Given the description of an element on the screen output the (x, y) to click on. 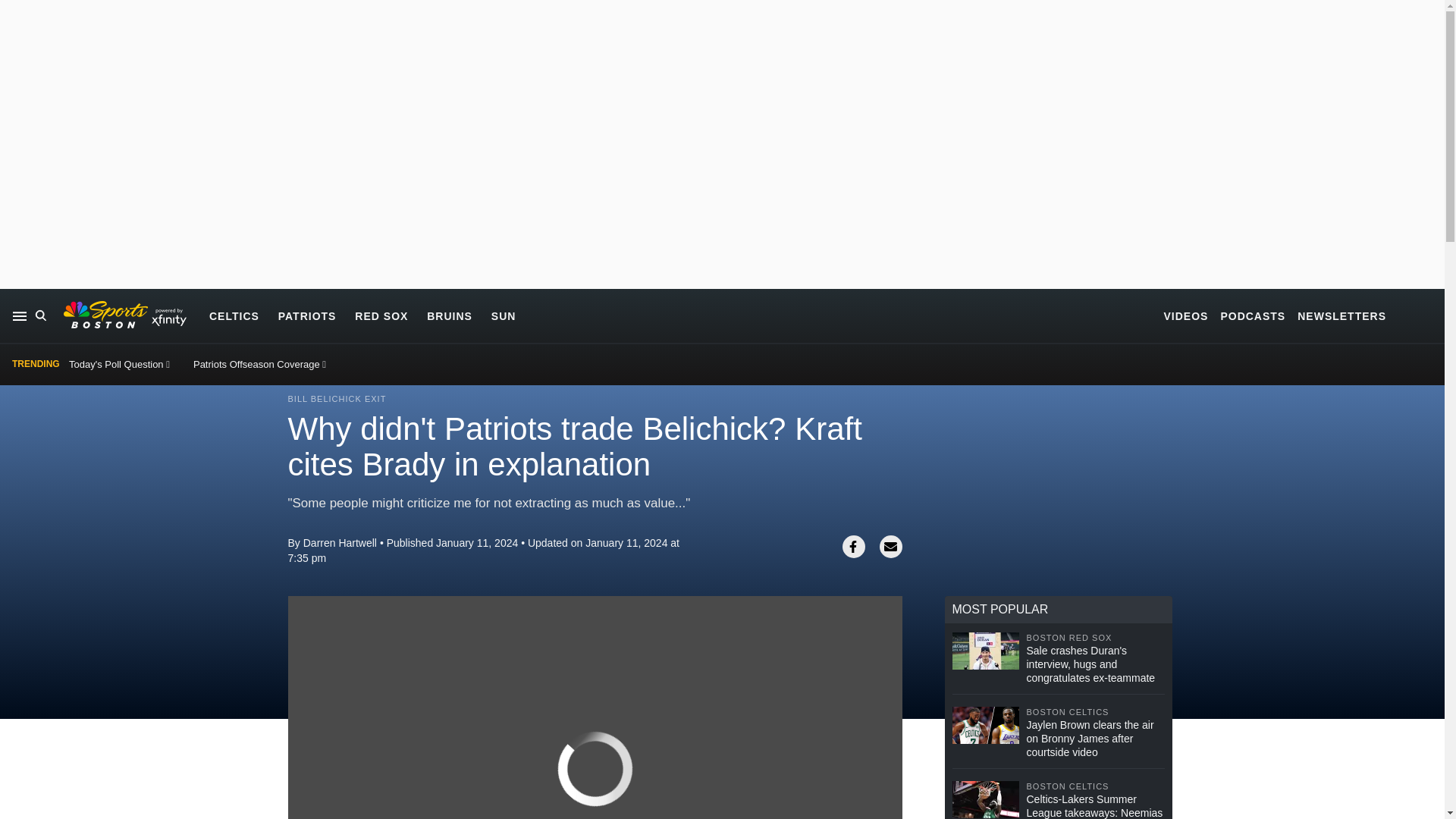
BRUINS (448, 315)
RED SOX (381, 315)
BILL BELICHICK EXIT (337, 398)
NEWSLETTERS (1341, 315)
SUN (504, 315)
PATRIOTS (307, 315)
VIDEOS (1185, 315)
CELTICS (234, 315)
PODCASTS (1252, 315)
Darren Hartwell (339, 542)
